Given the description of an element on the screen output the (x, y) to click on. 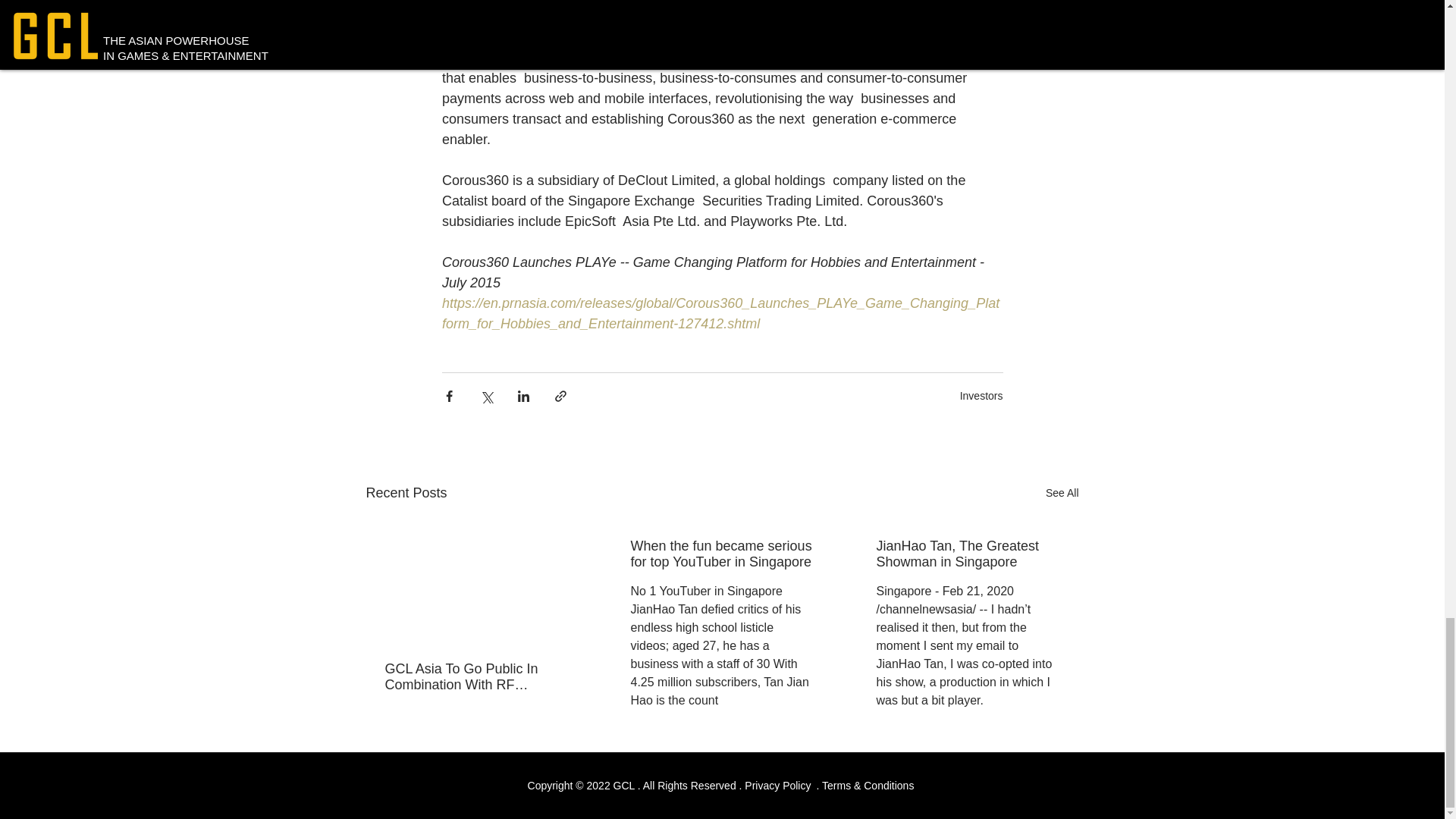
JianHao Tan, The Greatest Showman in Singapore (967, 554)
GCL Asia To Go Public In Combination With RF Acquisition (476, 676)
See All (1061, 493)
Investors (981, 395)
When the fun became serious for top YouTuber in Singapore (721, 554)
Privacy Policy (777, 785)
